Given the description of an element on the screen output the (x, y) to click on. 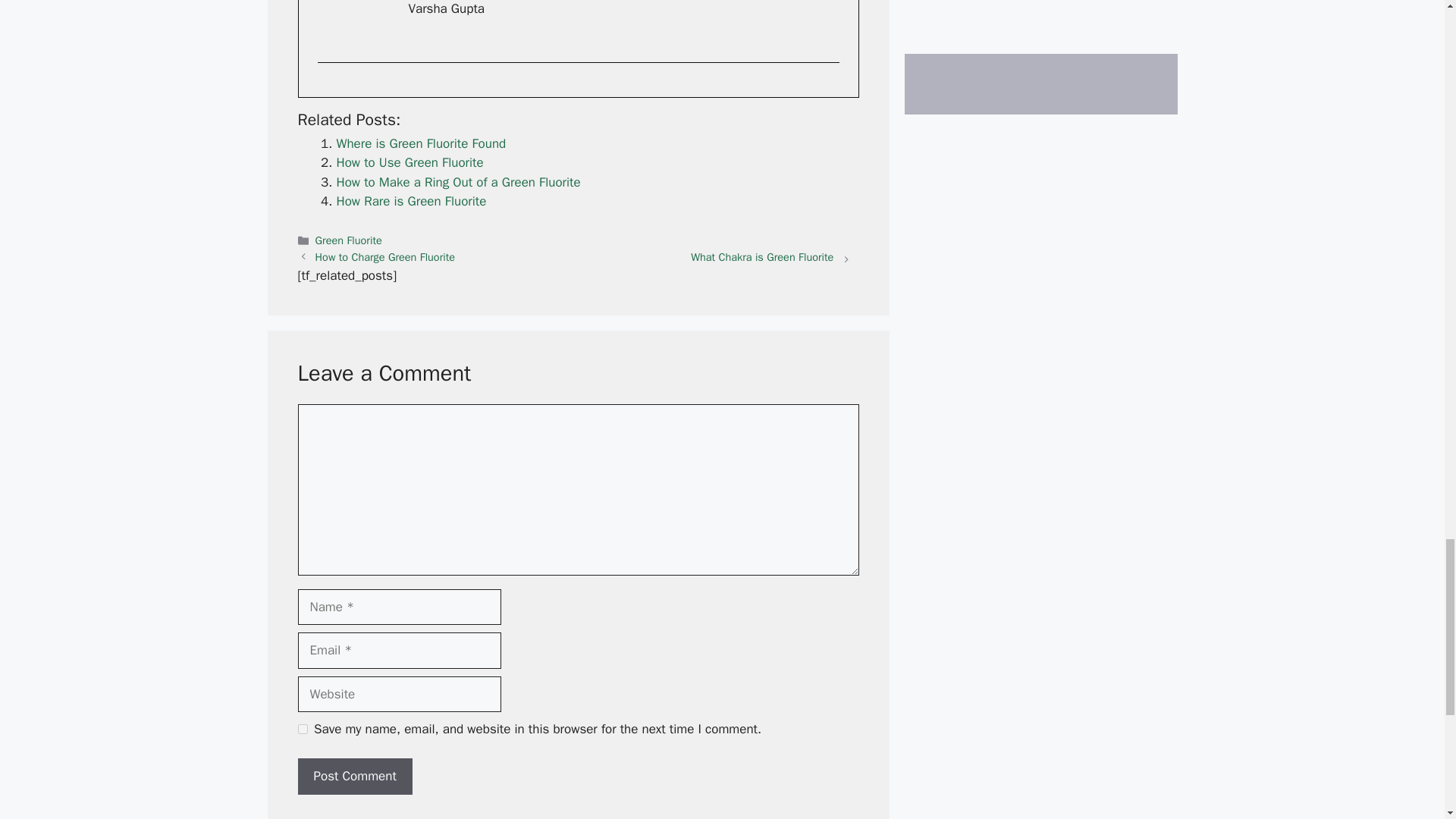
Where is Green Fluorite Found (421, 143)
How Rare is Green Fluorite (411, 201)
How to Use Green Fluorite (409, 162)
Post Comment (354, 776)
How to Use Green Fluorite (409, 162)
yes (302, 728)
Green Fluorite (348, 240)
Post Comment (354, 776)
How Rare is Green Fluorite (411, 201)
What Chakra is Green Fluorite (761, 256)
How to Charge Green Fluorite (385, 256)
How to Make a Ring Out of a Green Fluorite (458, 182)
How to Make a Ring Out of a Green Fluorite (458, 182)
Where is Green Fluorite Found (421, 143)
